Given the description of an element on the screen output the (x, y) to click on. 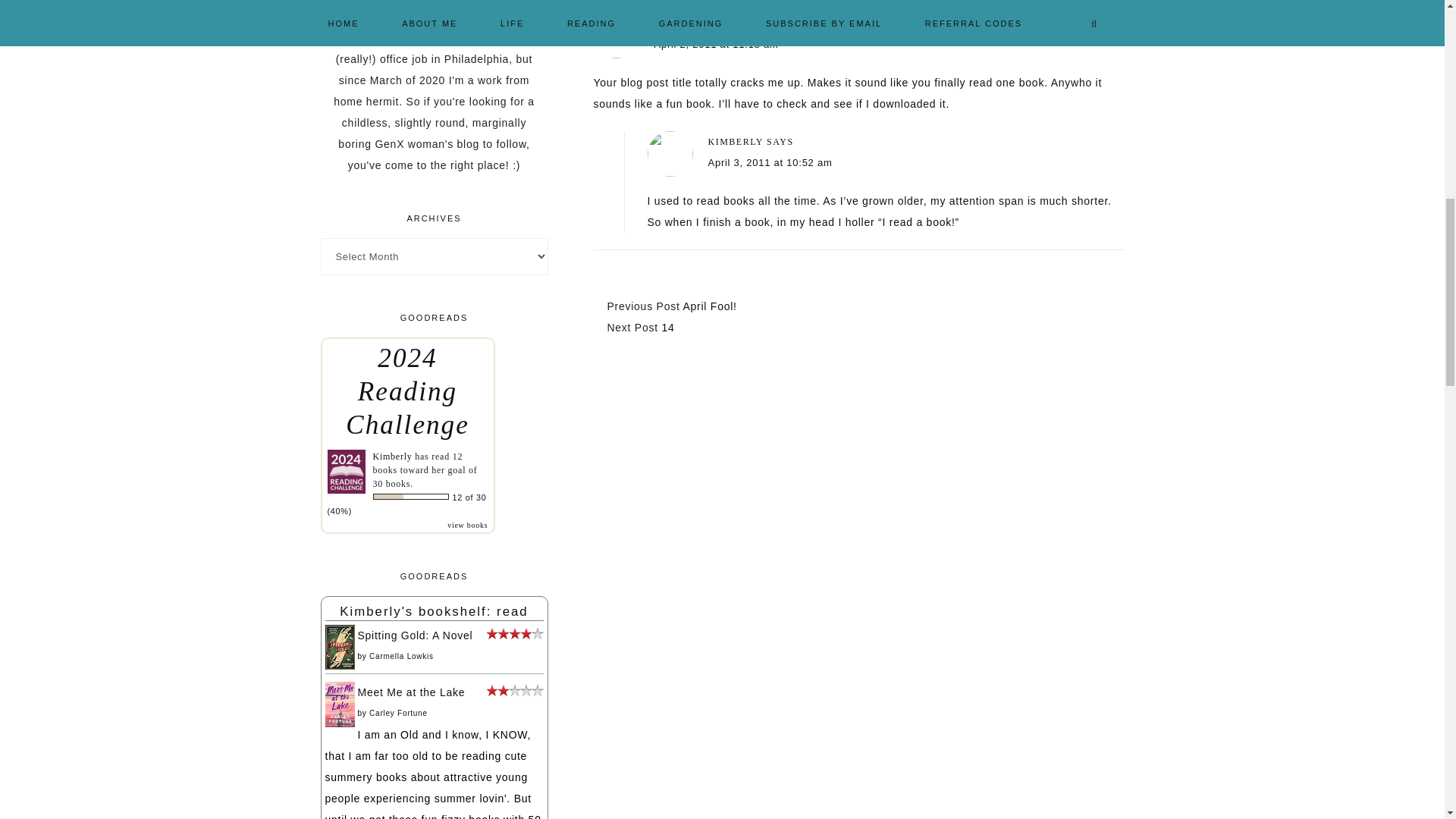
HEIDI (668, 23)
Kimberly's bookshelf: read (433, 611)
Meet Me at the Lake (411, 692)
Meet Me at the Lake (338, 723)
14 (668, 327)
KIMBERLY (734, 141)
April 3, 2011 at 10:52 am (769, 162)
April Fool! (709, 306)
Spitting Gold: A Novel (415, 635)
Carmella Lowkis (401, 655)
Spitting Gold: A Novel (338, 665)
Kimberly (392, 456)
it was ok (514, 692)
view books (466, 524)
2024 Reading Challenge (407, 391)
